Given the description of an element on the screen output the (x, y) to click on. 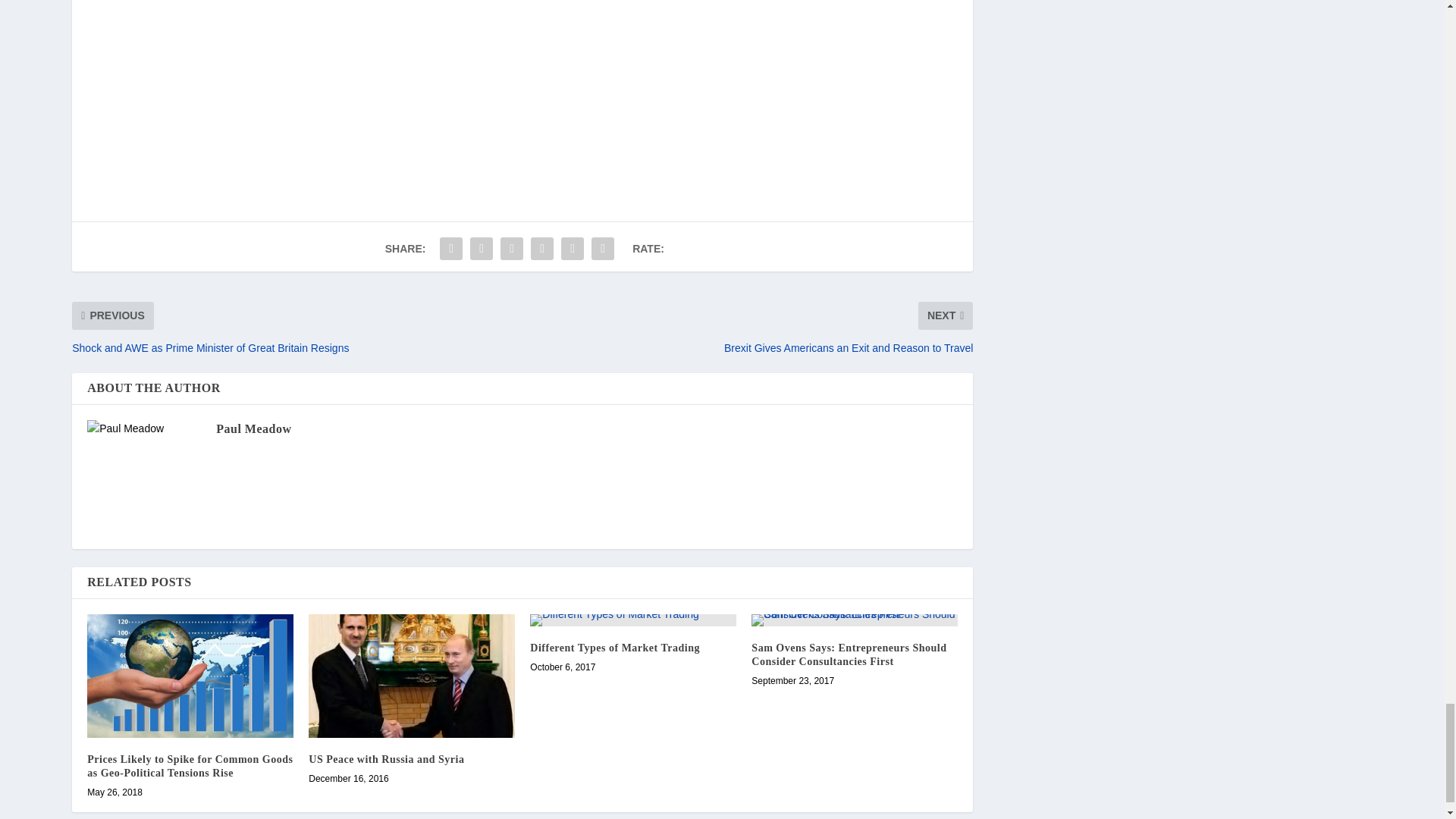
Different Types of Market Trading (632, 620)
US Peace with Russia and Syria (411, 675)
View all posts by Paul Meadow (253, 428)
